Given the description of an element on the screen output the (x, y) to click on. 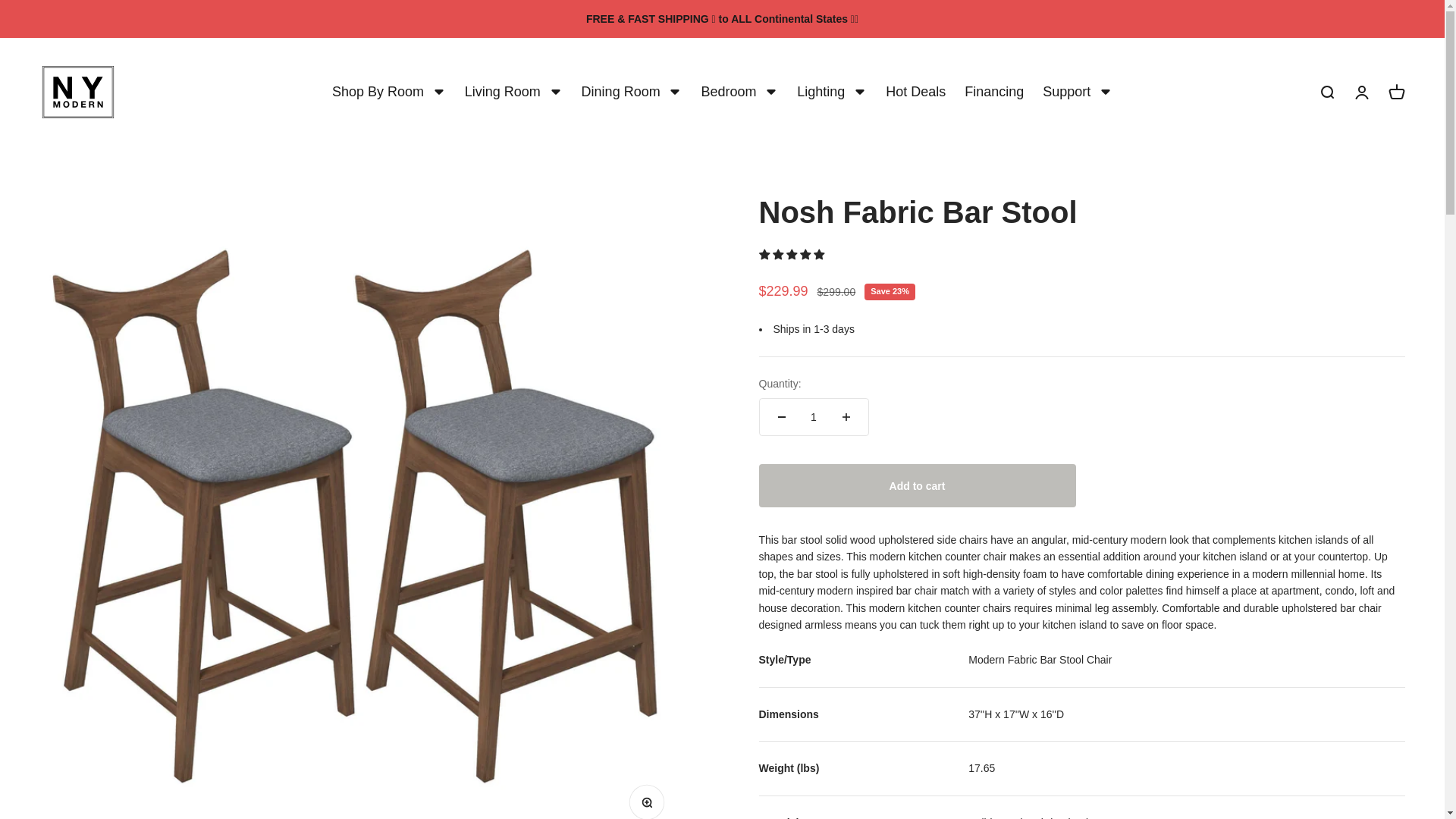
Bedroom (1396, 92)
Financing (738, 92)
Dining Room (993, 92)
Lighting (631, 92)
Open account page (831, 92)
New York Modern Furniture (1361, 92)
Support (77, 91)
Shop By Room (1077, 92)
Hot Deals (388, 92)
